Given the description of an element on the screen output the (x, y) to click on. 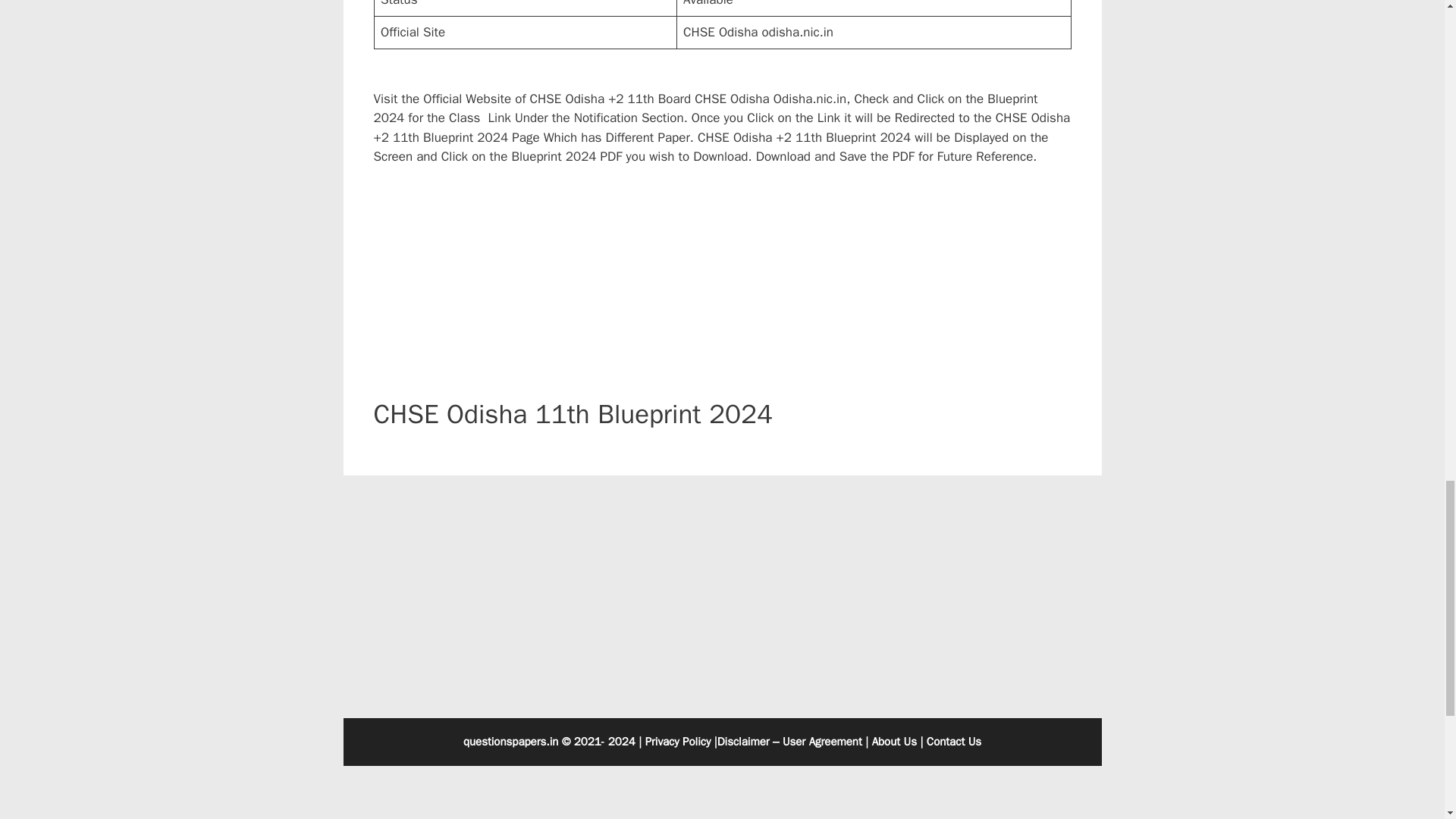
Privacy Policy (678, 741)
About Us (894, 741)
Advertisement (721, 796)
Contact Us (953, 741)
